Given the description of an element on the screen output the (x, y) to click on. 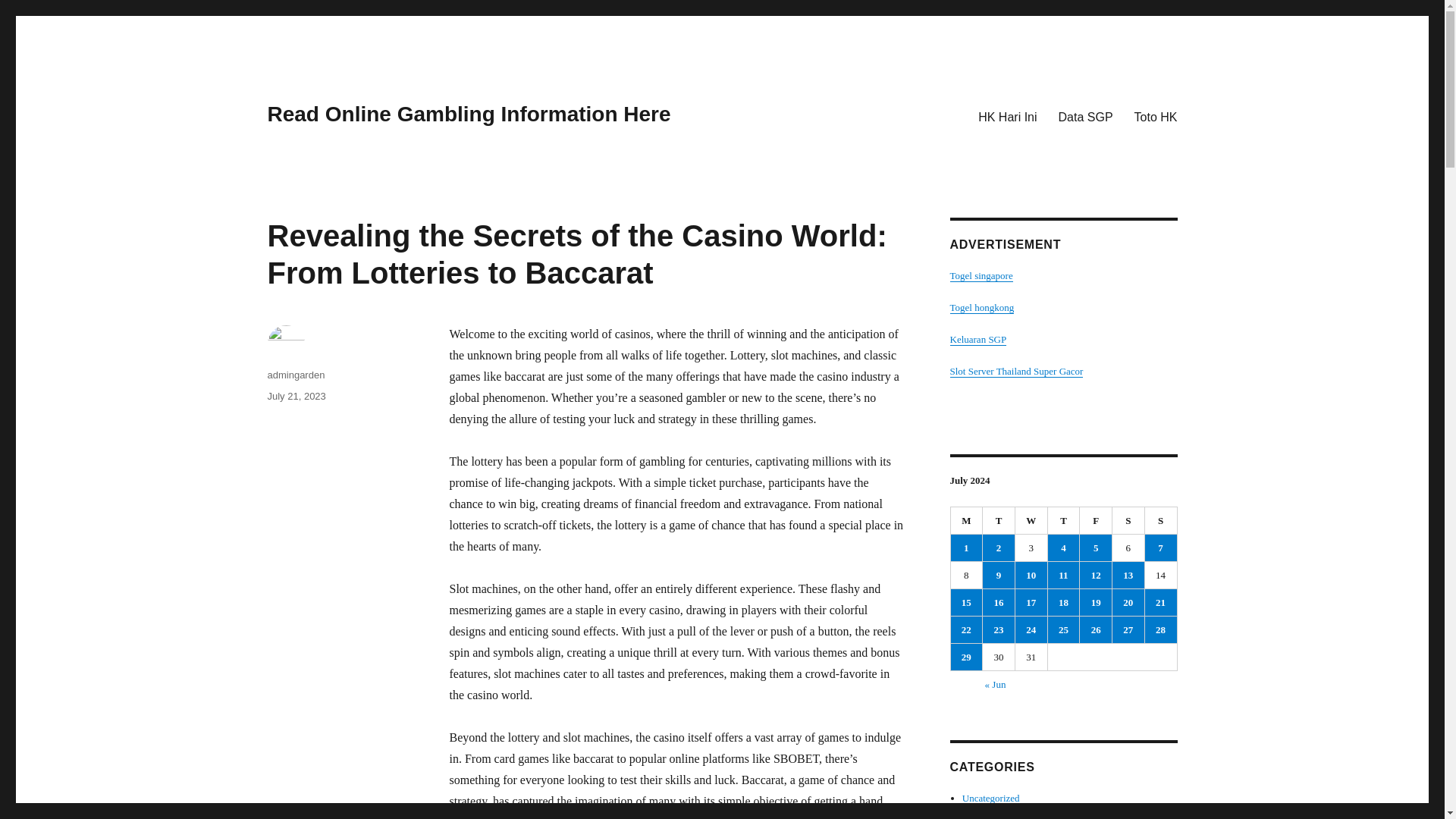
July 21, 2023 (295, 396)
Data SGP (1086, 116)
Saturday (1128, 520)
Toto HK (1156, 116)
Wednesday (1031, 520)
Thursday (1064, 520)
Read Online Gambling Information Here (467, 114)
Sunday (1160, 520)
HK Hari Ini (1007, 116)
admingarden (295, 374)
Tuesday (998, 520)
Friday (1096, 520)
Monday (967, 520)
